Given the description of an element on the screen output the (x, y) to click on. 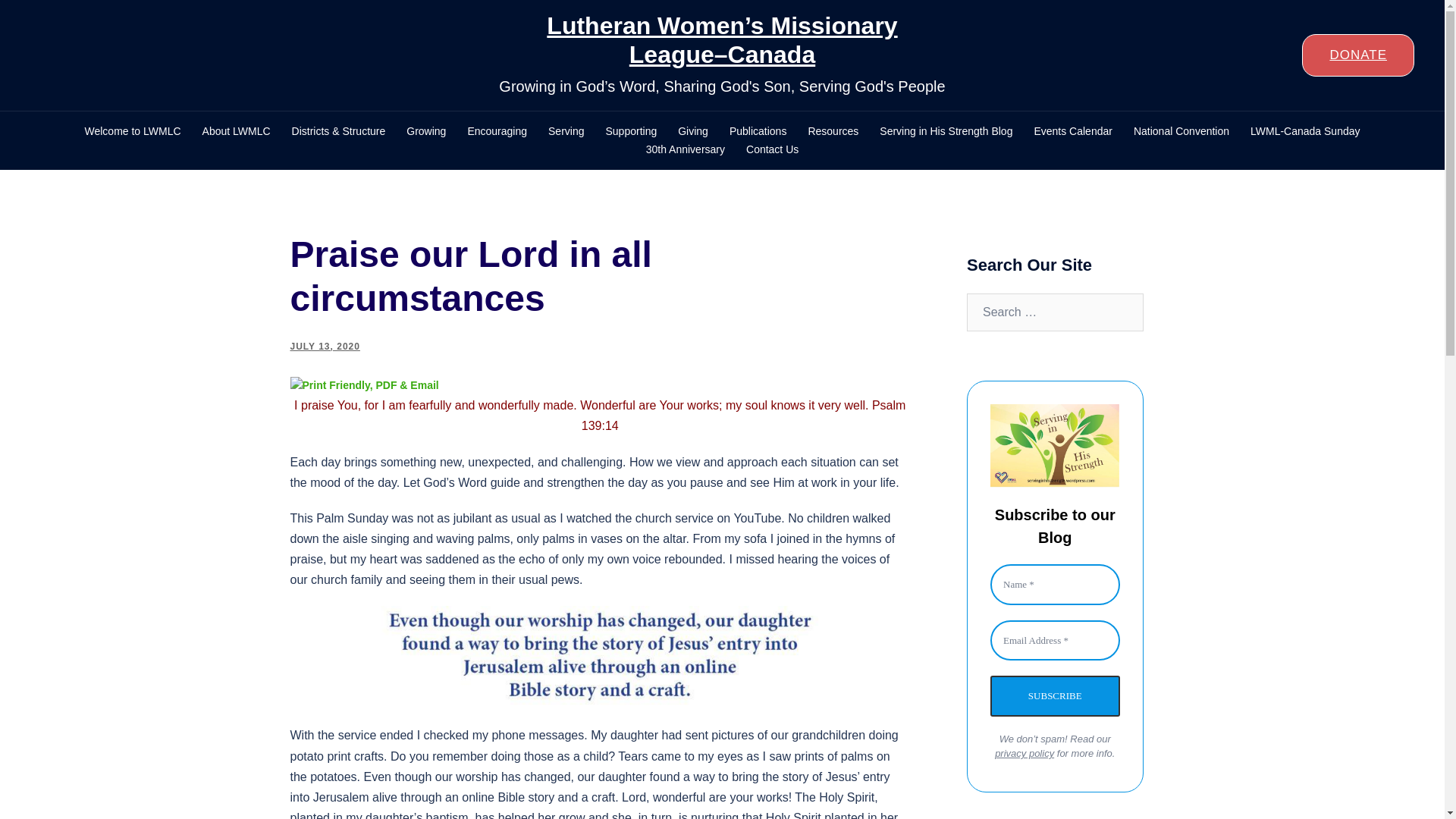
Name (1054, 584)
Subscribe (1054, 695)
DONATE (1357, 55)
Events Calendar (1072, 131)
Welcome to LWMLC (132, 131)
30th Anniversary (685, 149)
Serving in His Strength Blog (945, 131)
Serving (565, 131)
Publications (758, 131)
Growing (425, 131)
National Convention (1181, 131)
LWML-Canada Sunday (1304, 131)
Encouraging (497, 131)
Email Address (1054, 639)
Contact Us (771, 149)
